Given the description of an element on the screen output the (x, y) to click on. 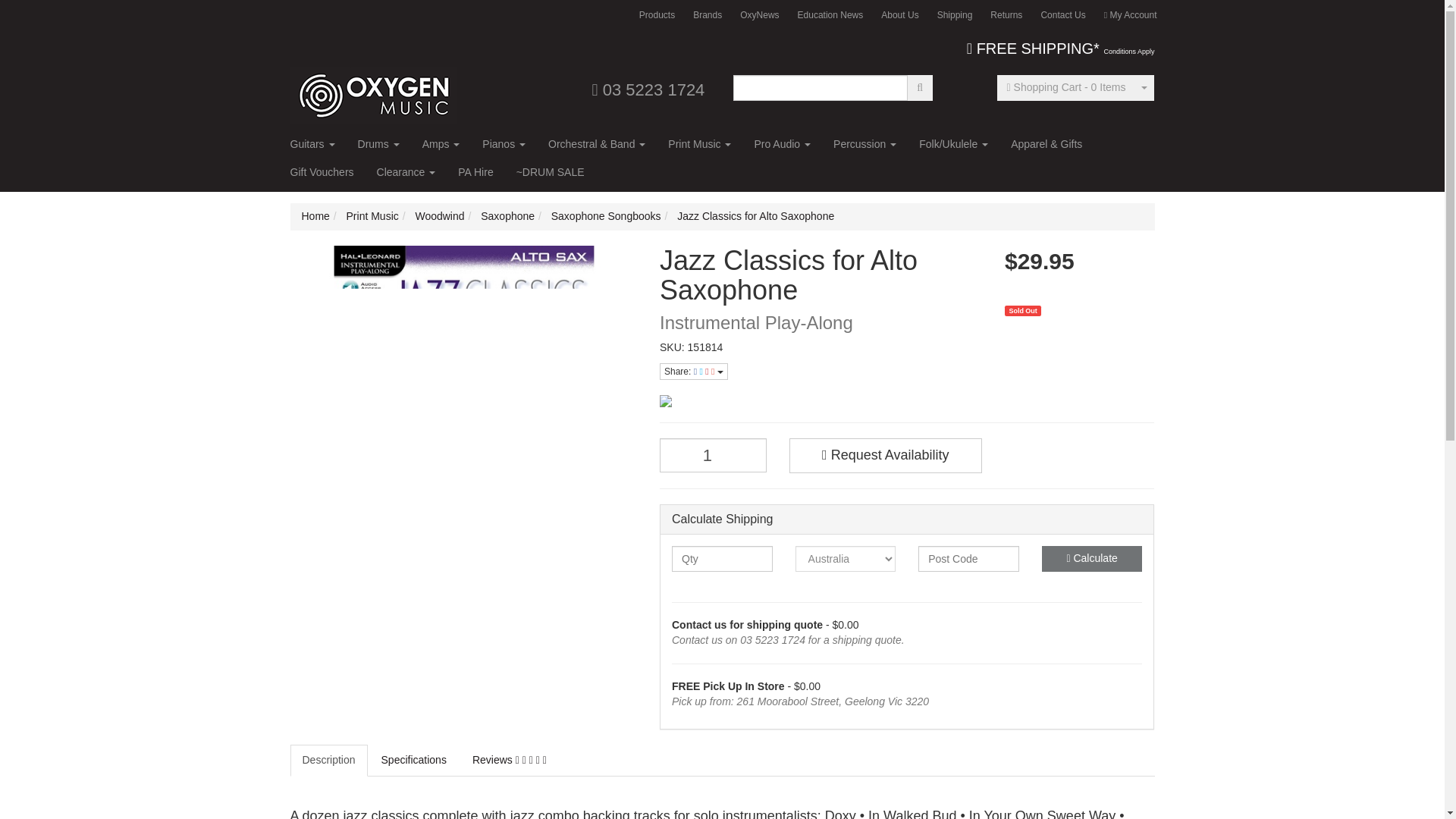
OxyNews (758, 15)
Hal Leonard (906, 400)
Request Availability (885, 455)
Shopping Cart - 0 Items (1066, 87)
My Account (1130, 15)
Contact Us (1062, 15)
Search (920, 87)
Calculate (1092, 558)
Oxygen Music (373, 90)
Education News (830, 15)
